Given the description of an element on the screen output the (x, y) to click on. 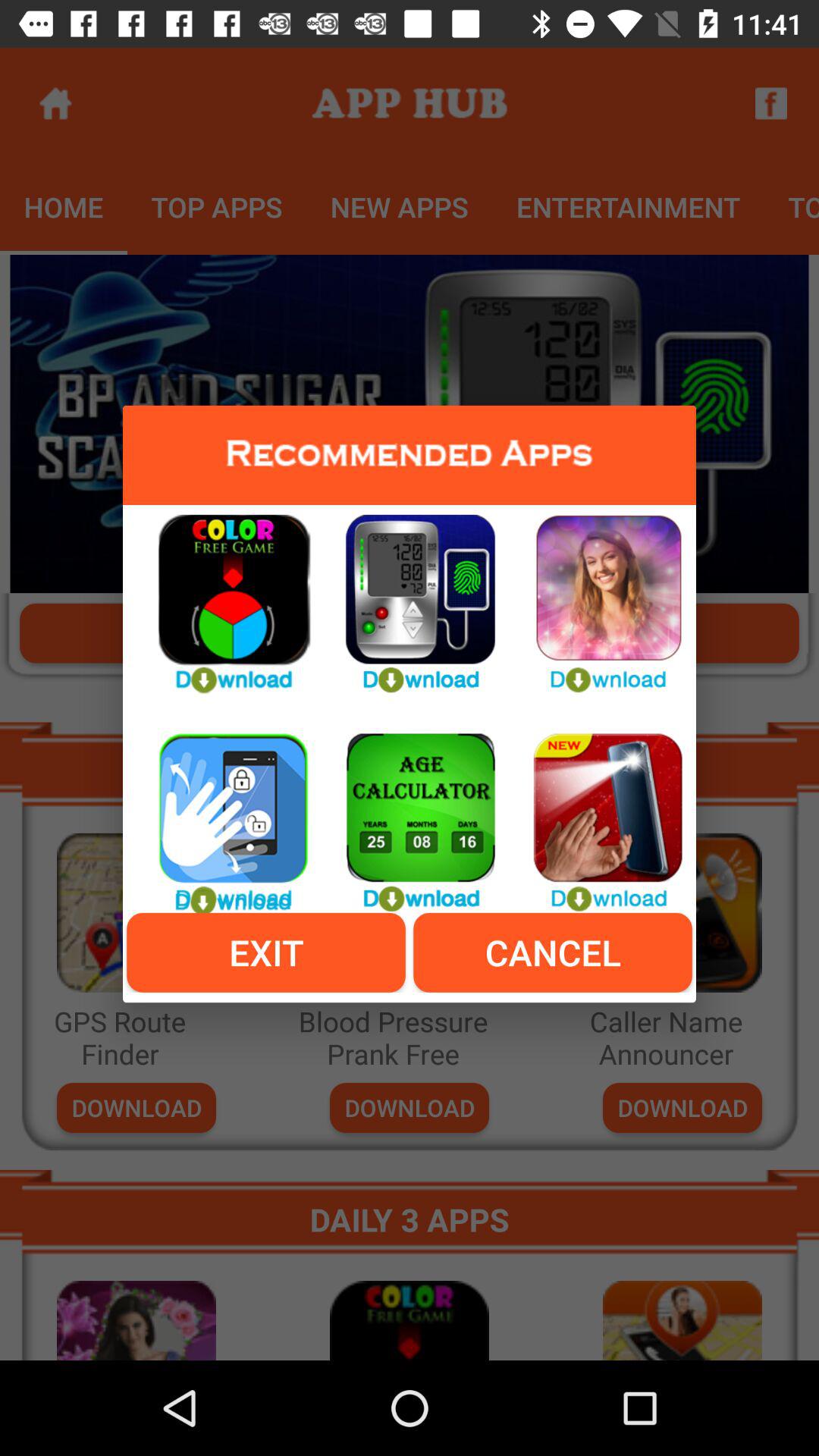
color free game app (222, 594)
